Given the description of an element on the screen output the (x, y) to click on. 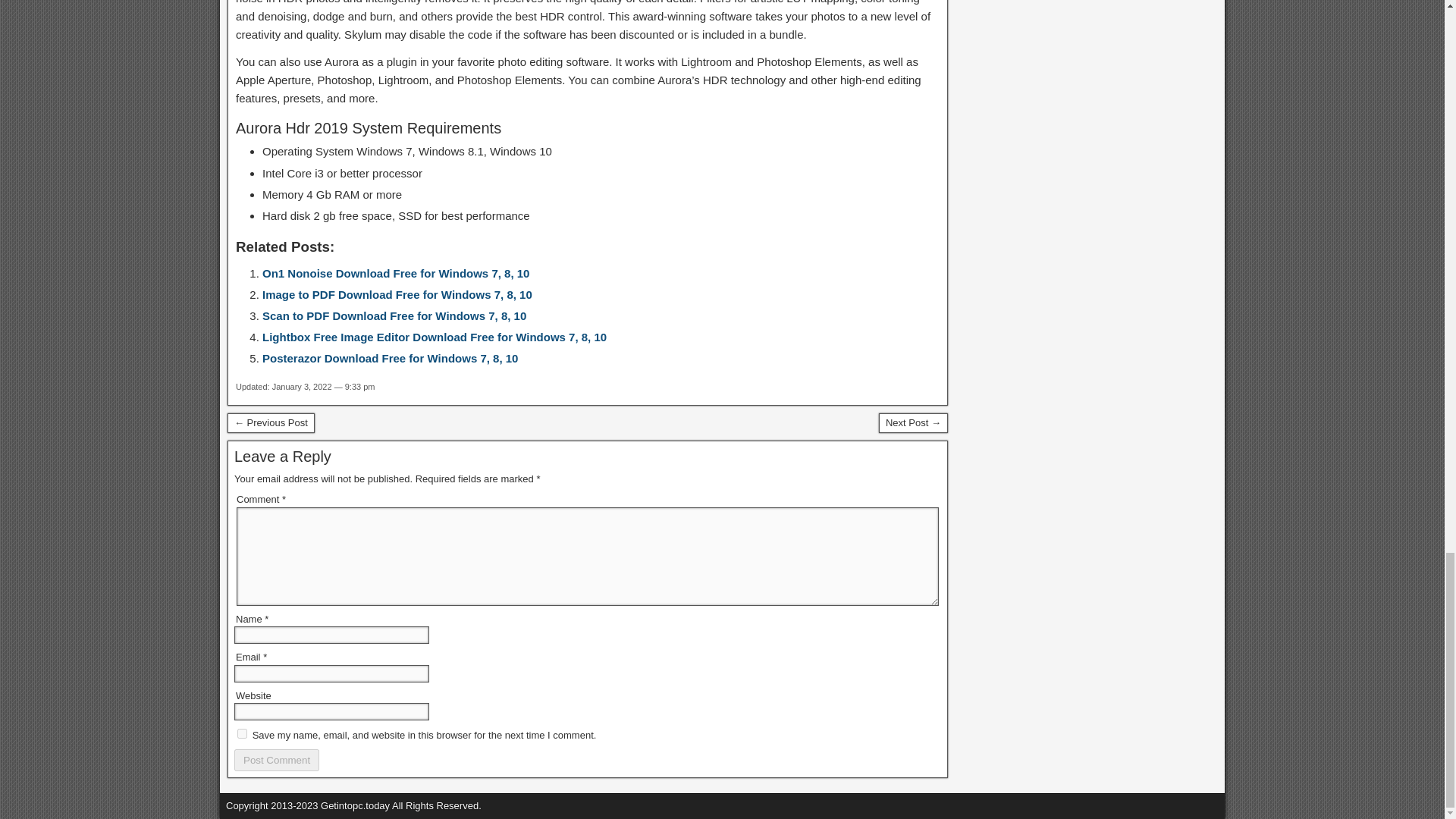
Image to PDF Download Free for Windows 7, 8, 10 (397, 294)
yes (242, 733)
On1 Nonoise Download Free for Windows 7, 8, 10 (395, 273)
Post Comment (276, 760)
Posterazor Download Free for Windows 7, 8, 10 (390, 358)
Scan to PDF Download Free for Windows 7, 8, 10 (393, 315)
On1 Nonoise Download Free for Windows 7, 8, 10 (395, 273)
Autodesk Revit Mep 2015 Download Free for Windows 7, 8, 10 (270, 423)
Image to PDF Download Free for Windows 7, 8, 10 (397, 294)
Scan to PDF Download Free for Windows 7, 8, 10 (393, 315)
Posterazor Download Free for Windows 7, 8, 10 (390, 358)
Post Comment (276, 760)
